Given the description of an element on the screen output the (x, y) to click on. 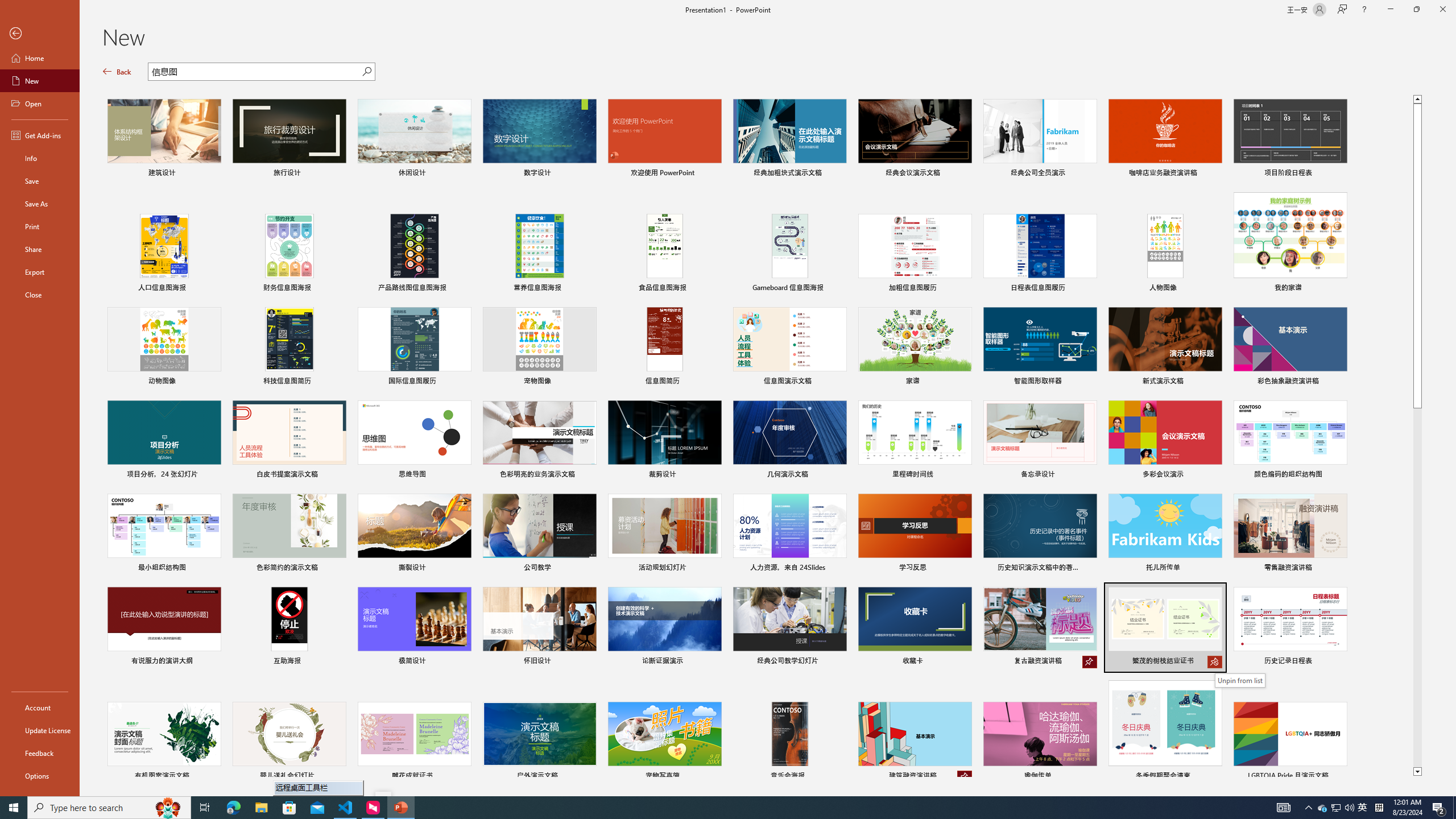
New (40, 80)
